Given the description of an element on the screen output the (x, y) to click on. 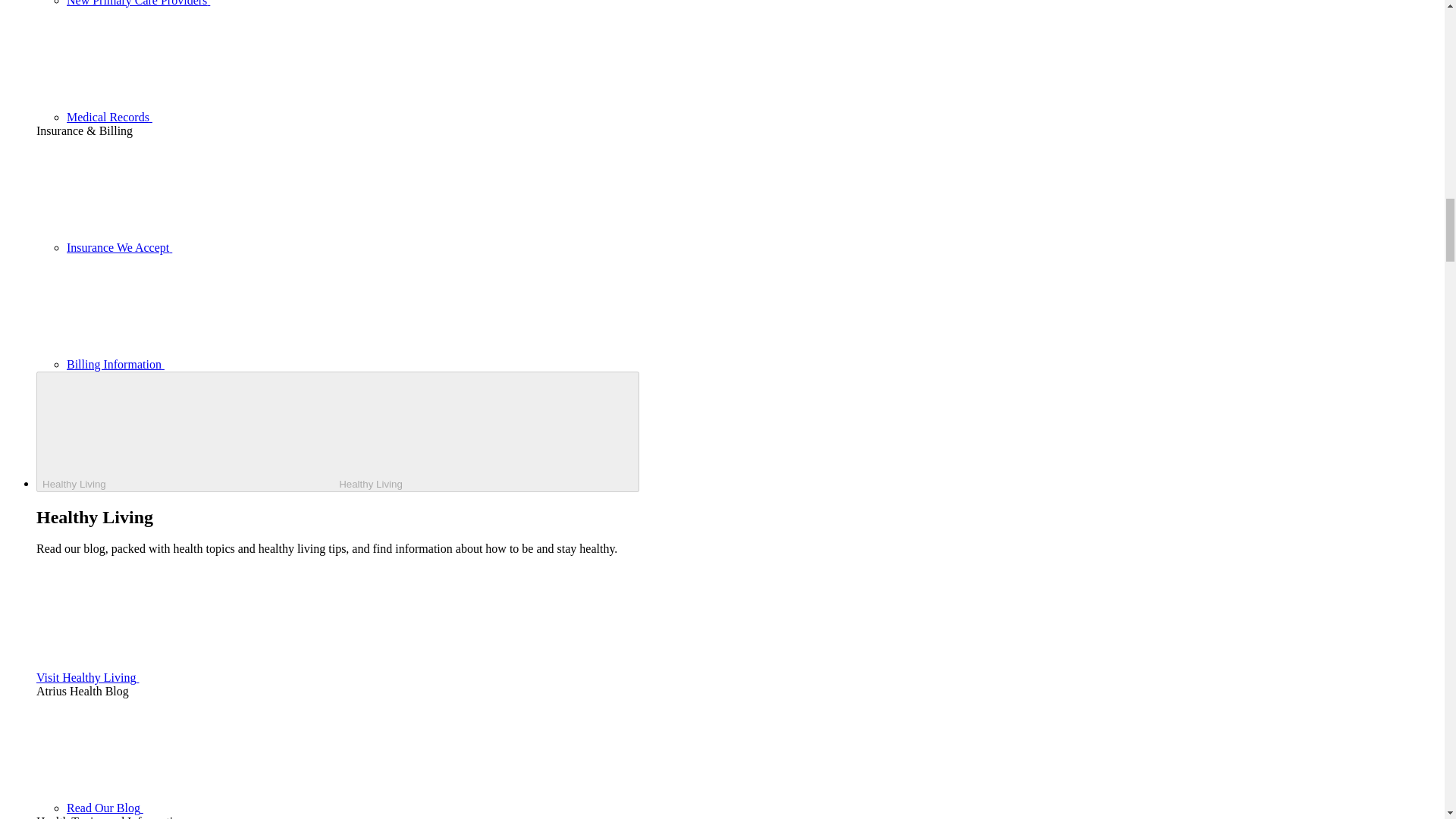
how to get and send your medical record history (223, 116)
Read Our Blog (218, 807)
Healthy Living Healthy Living (337, 431)
Insurance We Accept (232, 246)
New Primary Care Providers (252, 3)
List of medical insurance plans accepted (232, 246)
Billing Information (228, 364)
Visit Healthy Living (201, 676)
Read Our Blog (218, 807)
New Primary Care Providers (252, 3)
